Given the description of an element on the screen output the (x, y) to click on. 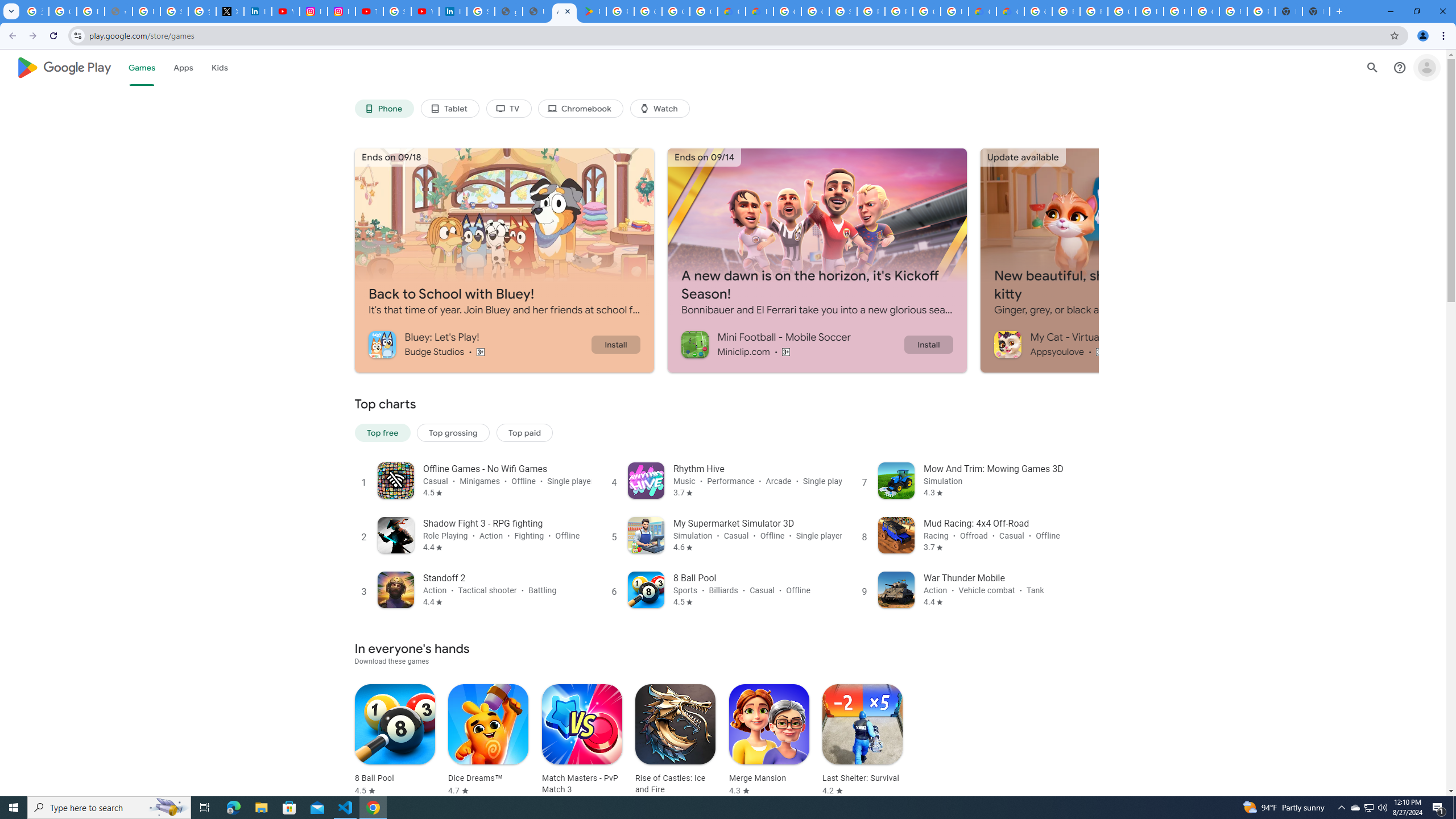
Top free (381, 432)
Google Workspace - Specific Terms (703, 11)
Merge Mansion Rated 4.3 stars out of five stars (768, 739)
Apps (182, 67)
Customer Care | Google Cloud (982, 11)
Top grossing (452, 432)
Help Center (1399, 67)
